Given the description of an element on the screen output the (x, y) to click on. 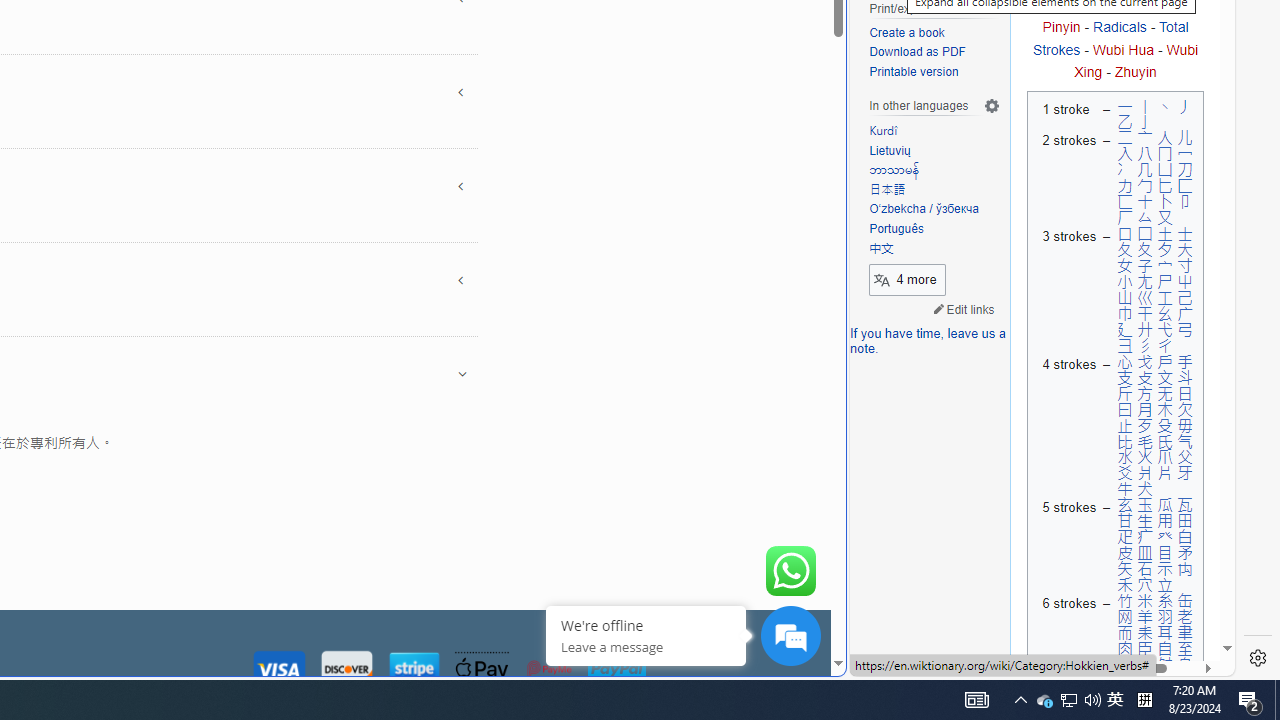
Pinyin (1061, 27)
